Given the description of an element on the screen output the (x, y) to click on. 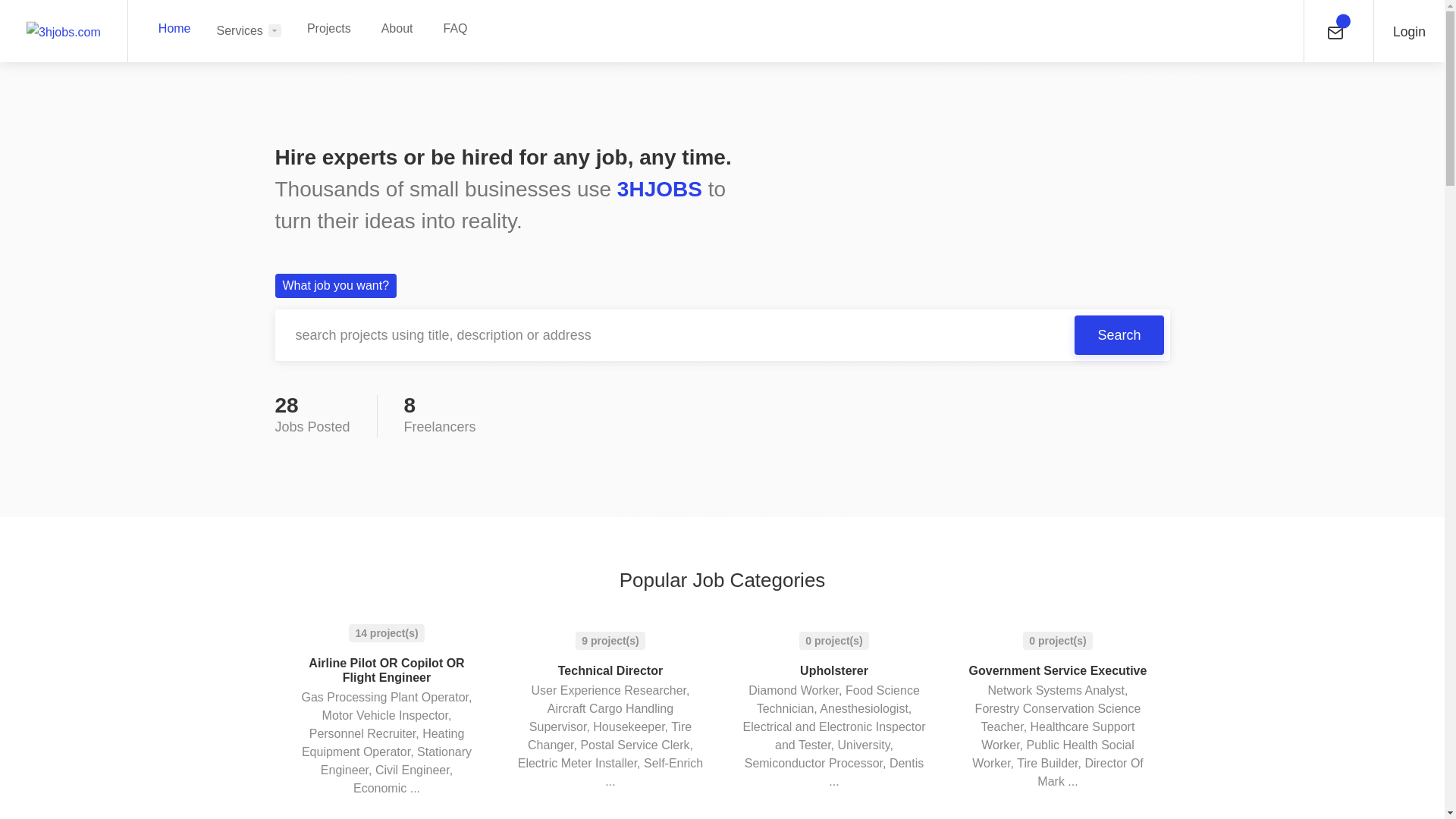
Login Element type: text (1409, 30)
Home Element type: text (174, 28)
About Element type: text (397, 28)
Search Element type: text (1118, 334)
FAQ Element type: text (454, 28)
Services Element type: text (249, 30)
Projects Element type: text (328, 28)
